Given the description of an element on the screen output the (x, y) to click on. 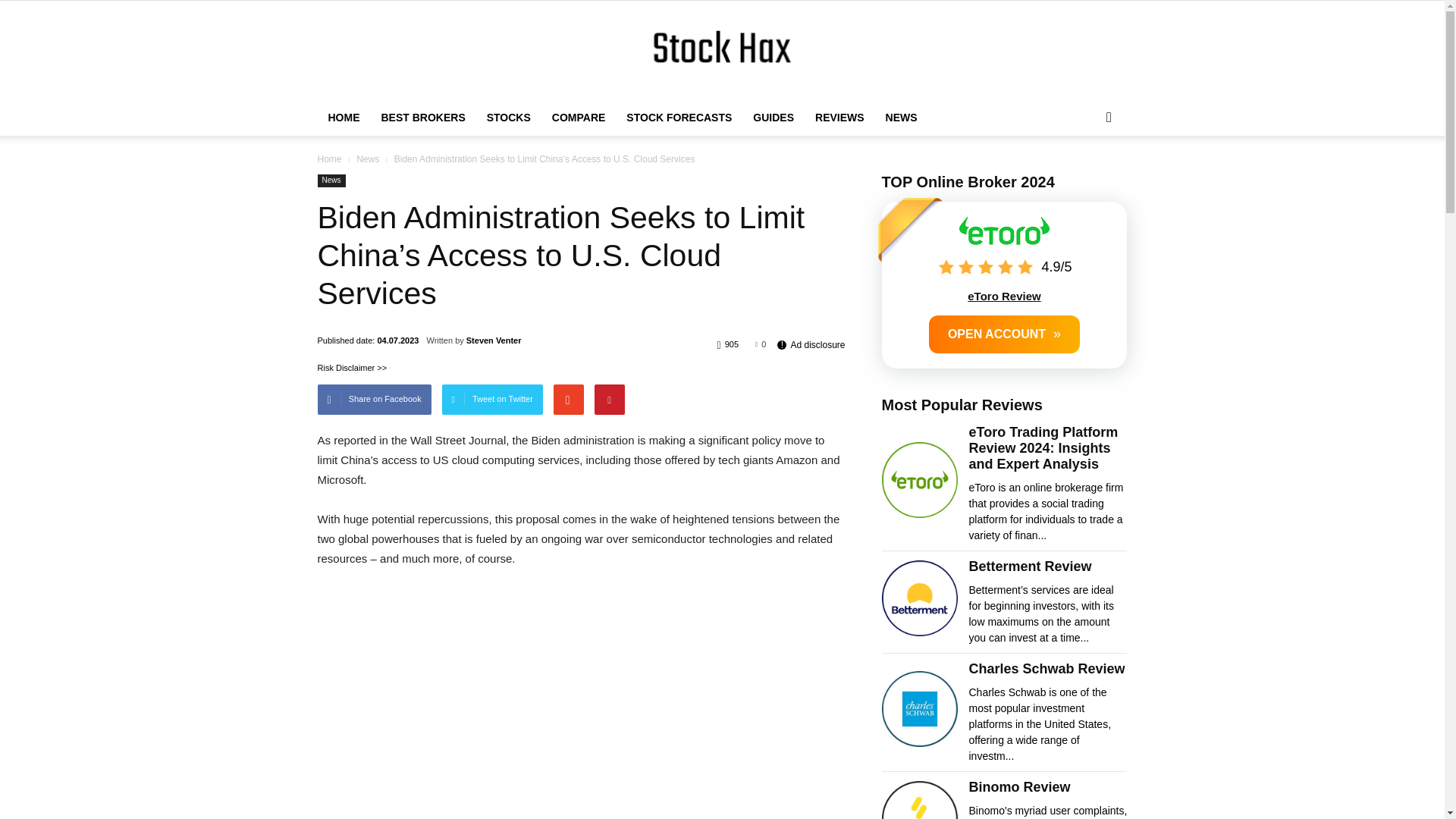
Trading News, Tips and Tactics (722, 51)
View all posts in News (367, 158)
